Given the description of an element on the screen output the (x, y) to click on. 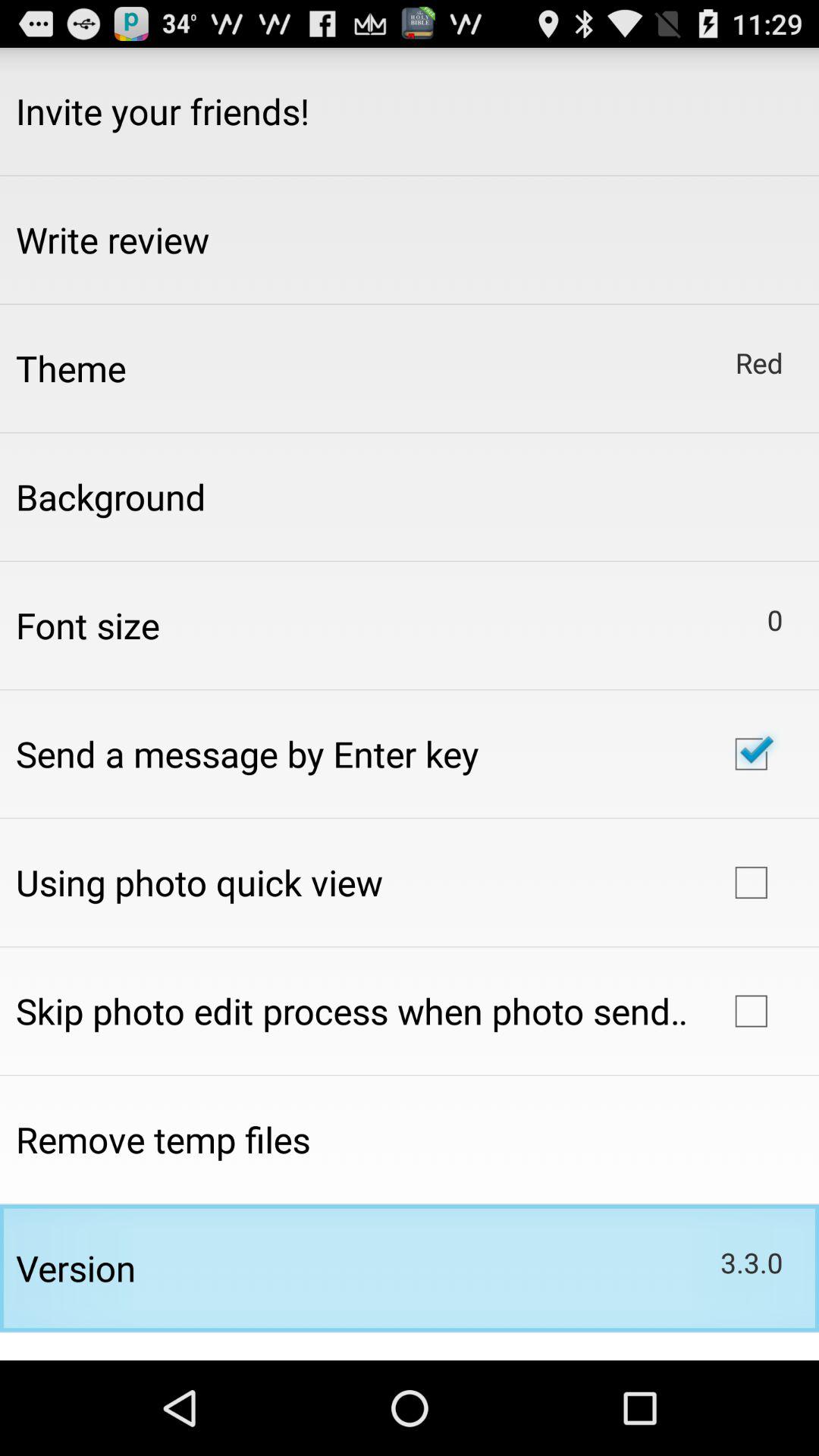
scroll until write review item (112, 239)
